Given the description of an element on the screen output the (x, y) to click on. 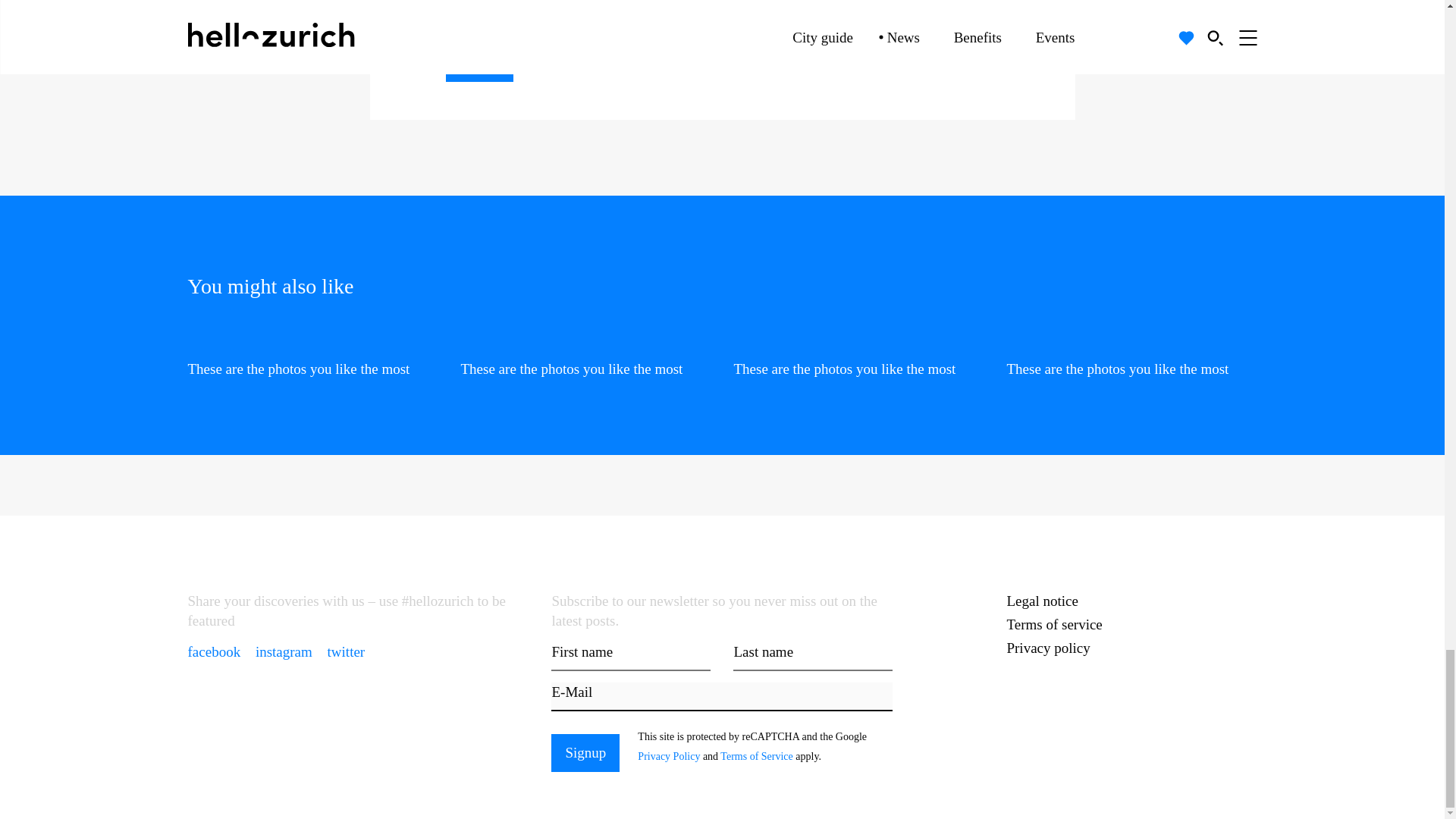
Signup (479, 62)
These are the photos you like the most (586, 355)
Signup (585, 752)
These are the photos you like the most (1132, 355)
Last name (812, 656)
Terms of Service (881, 46)
Signup (479, 62)
First name (630, 656)
Signup (585, 752)
Privacy Policy (793, 46)
